Given the description of an element on the screen output the (x, y) to click on. 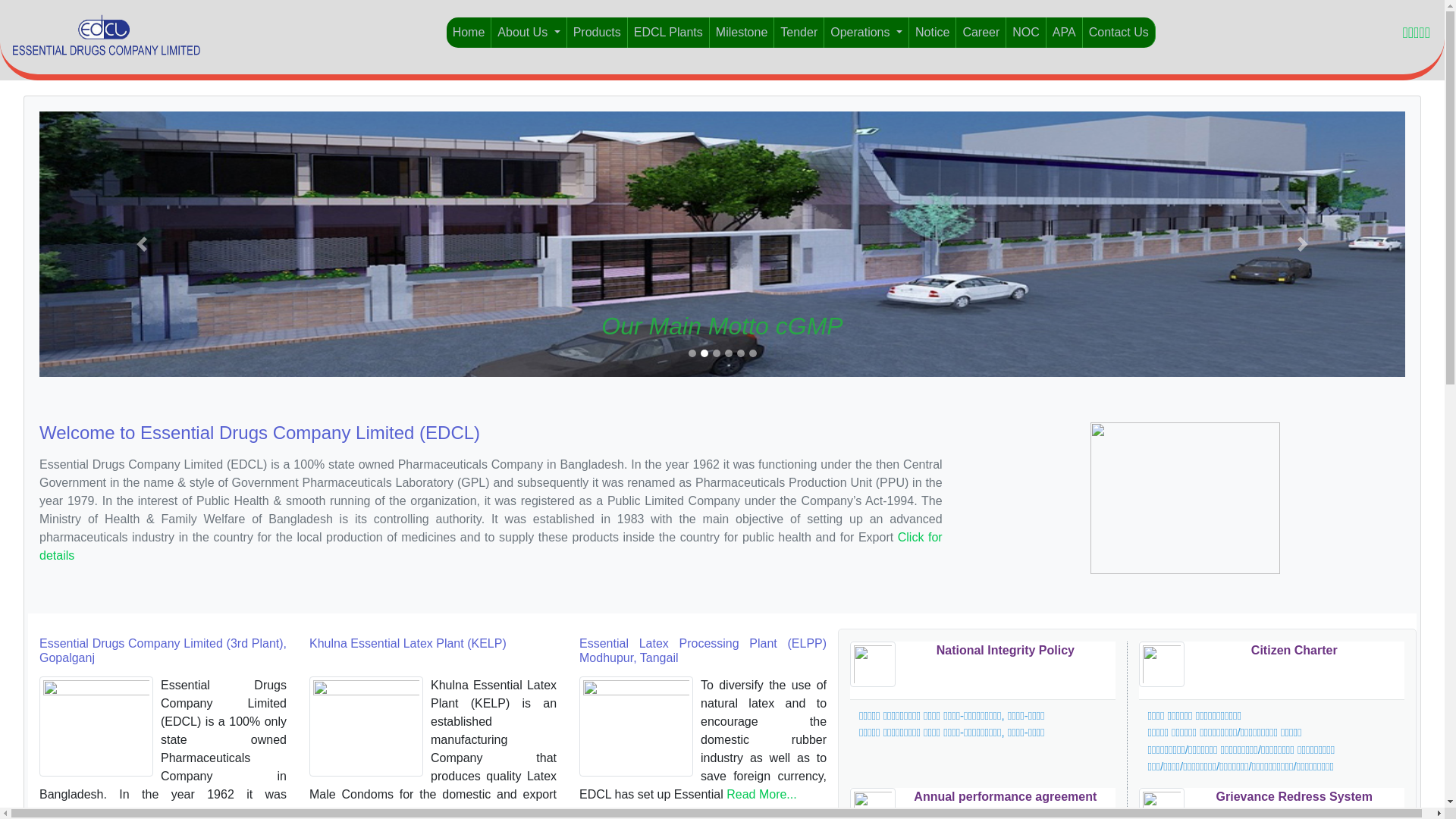
Notice Element type: text (932, 32)
Previous Element type: text (141, 243)
Home
(current) Element type: text (469, 32)
Tender Element type: text (799, 32)
Career Element type: text (981, 32)
About Us Element type: text (528, 32)
Read More... Element type: text (761, 793)
Operations Element type: text (866, 32)
Products Element type: text (597, 32)
APA Element type: text (1064, 32)
Next Element type: text (1302, 243)
Contact Us Element type: text (1118, 32)
EDCL Plants Element type: text (668, 32)
NOC Element type: text (1026, 32)
Click for details Element type: text (490, 545)
Milestone Element type: text (741, 32)
